Given the description of an element on the screen output the (x, y) to click on. 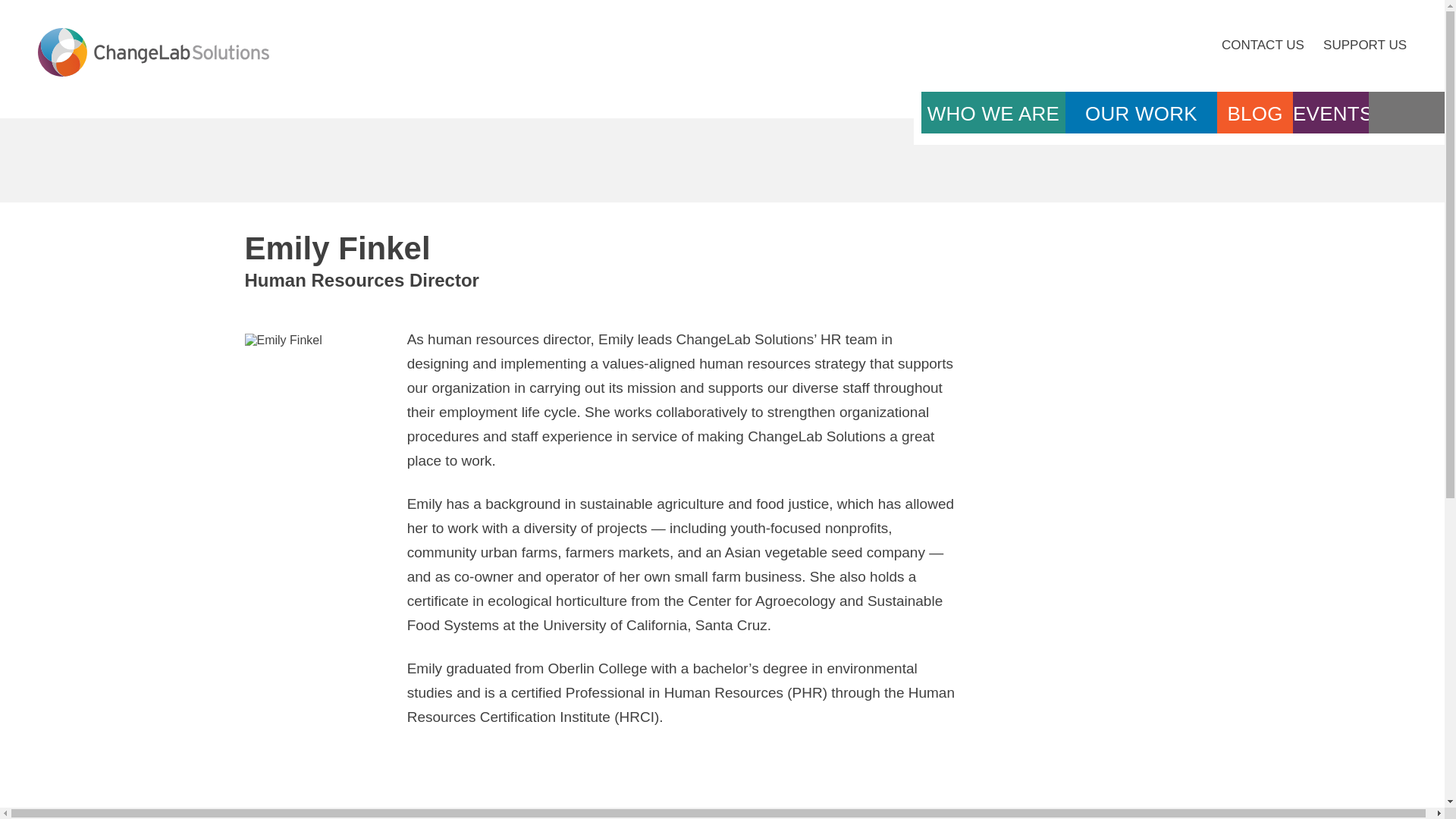
EVENTS (1330, 113)
Who We Are (993, 113)
Events (1330, 113)
SEARCH (1406, 113)
WHO WE ARE (993, 113)
OUR WORK (1141, 113)
Our Work (1141, 113)
BLOG (1254, 113)
SUPPORT US (1364, 44)
